Given the description of an element on the screen output the (x, y) to click on. 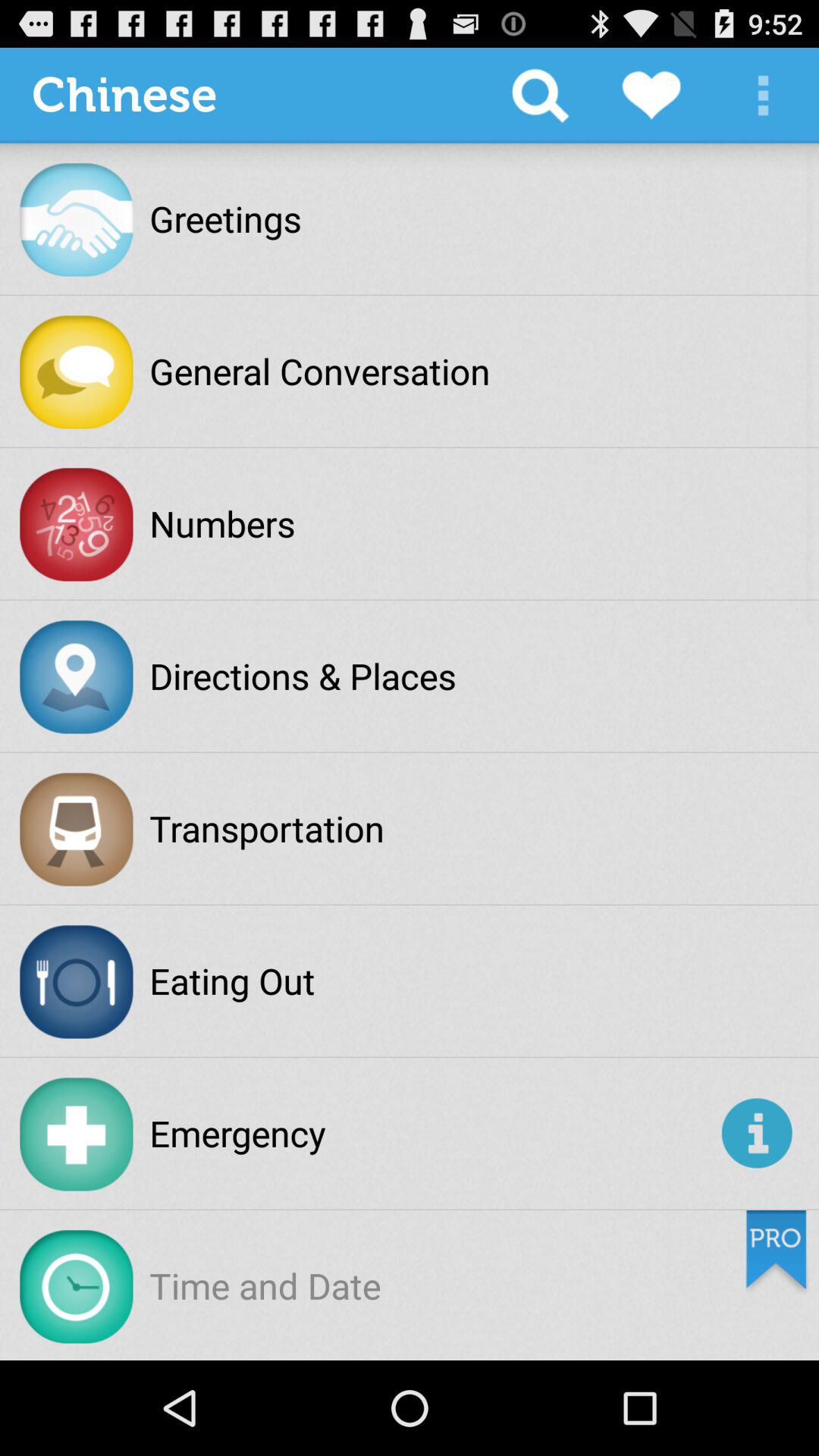
choose item next to the chinese (540, 95)
